Given the description of an element on the screen output the (x, y) to click on. 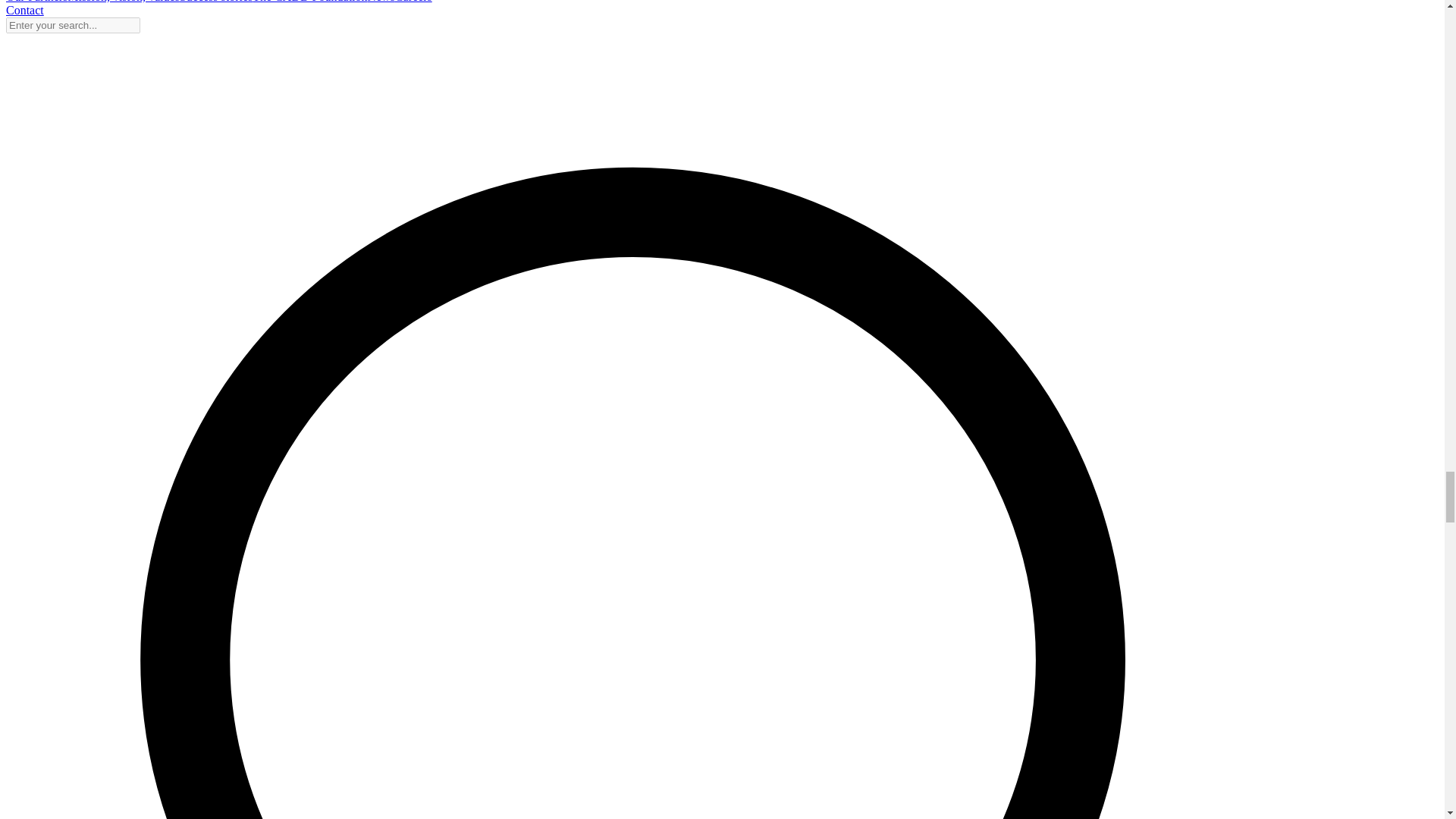
News (380, 1)
Mission, vision, values (122, 1)
Success stories (215, 1)
Our Partners (35, 1)
Careers (413, 1)
The CADD Foundation (308, 1)
